Given the description of an element on the screen output the (x, y) to click on. 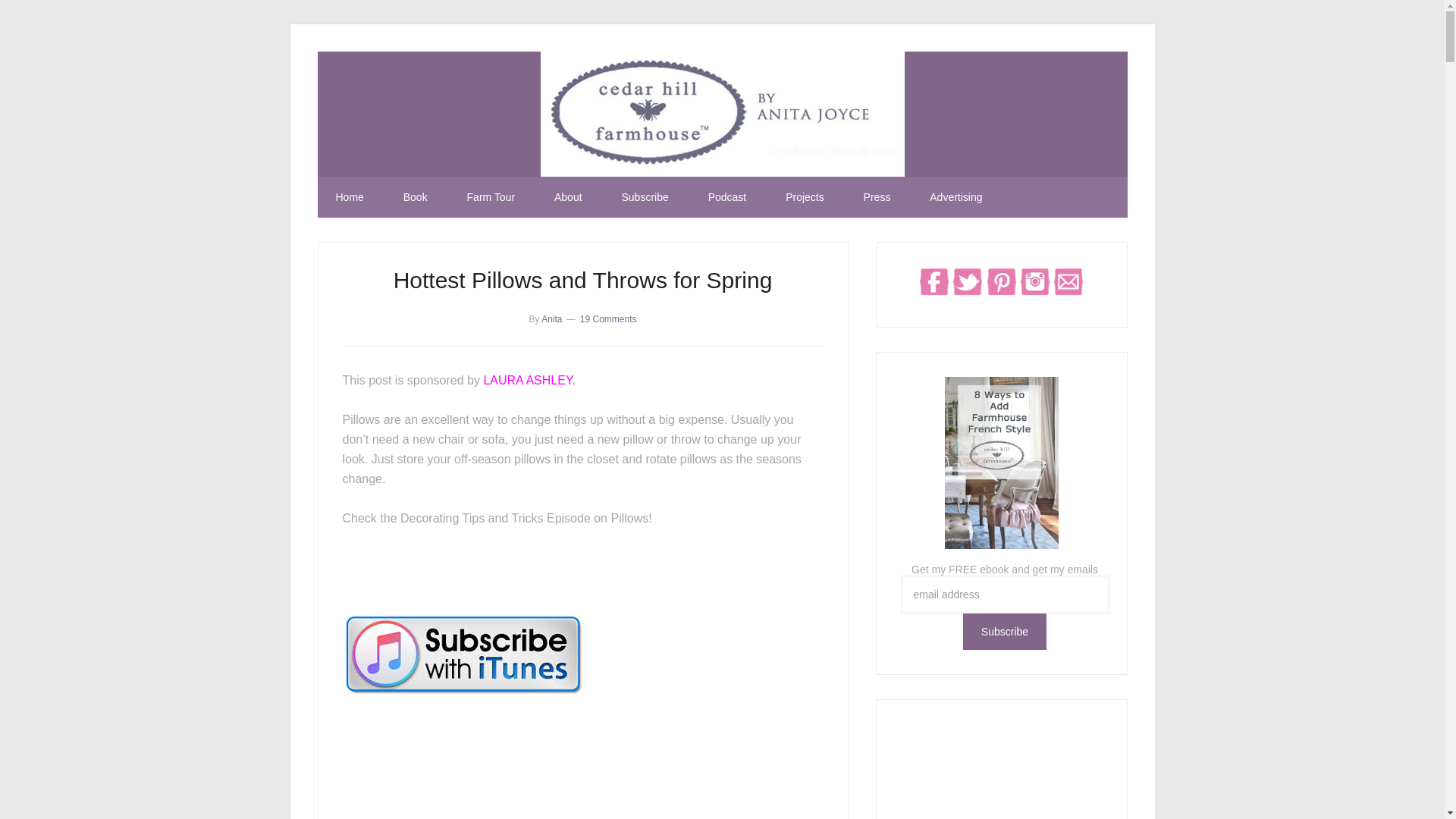
Cedar Hill Farmhouse (721, 113)
Projects (805, 196)
About (567, 196)
Farm Tour (491, 196)
19 Comments (608, 318)
Press (876, 196)
Home (349, 196)
Advertising (955, 196)
LAURA ASHLEY. (529, 379)
Anita (551, 318)
Book (415, 196)
Subscribe (643, 196)
Subscribe (1004, 631)
Podcast (727, 196)
